Given the description of an element on the screen output the (x, y) to click on. 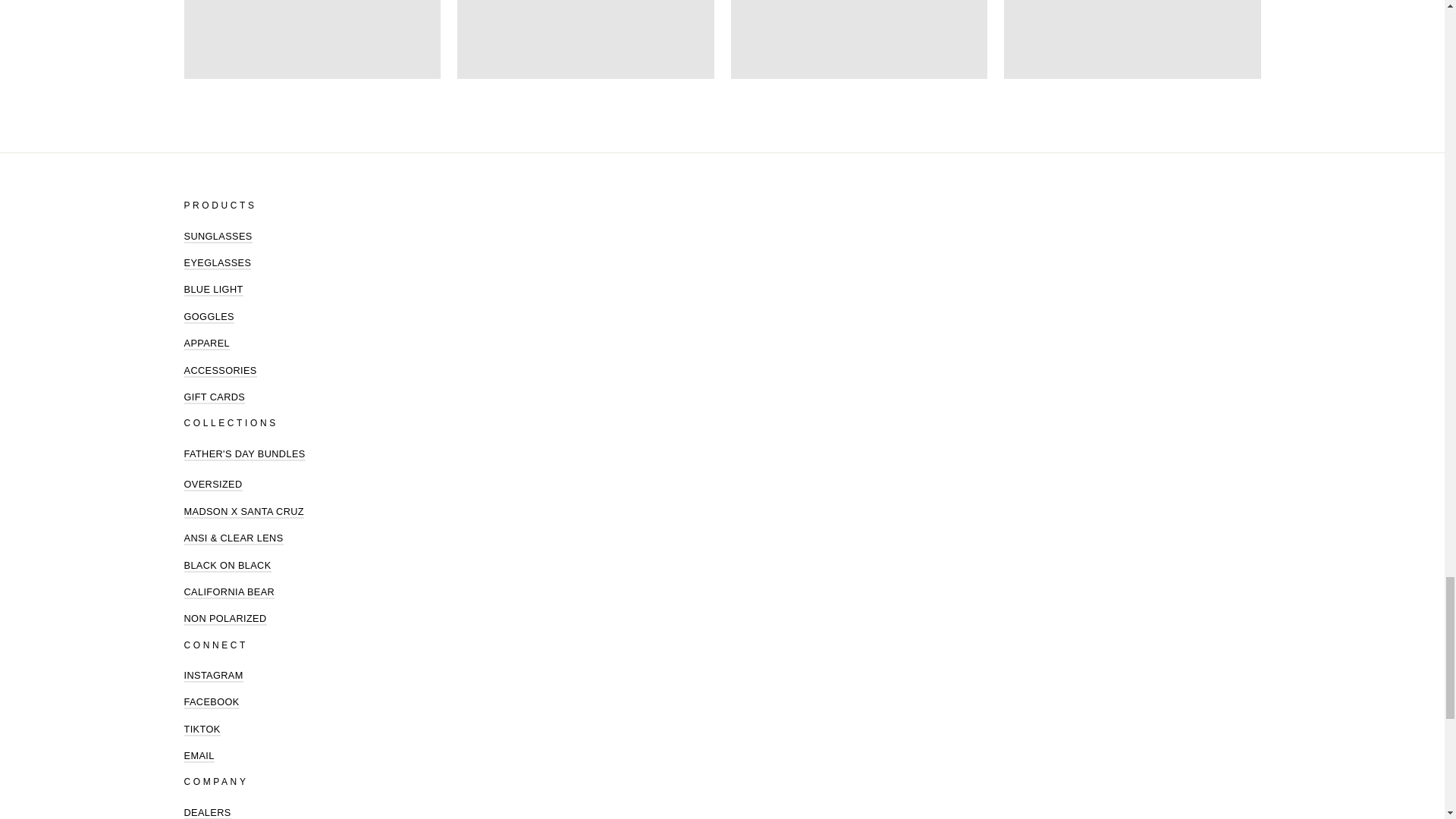
Mens Oversized Sunglasses (212, 484)
